Given the description of an element on the screen output the (x, y) to click on. 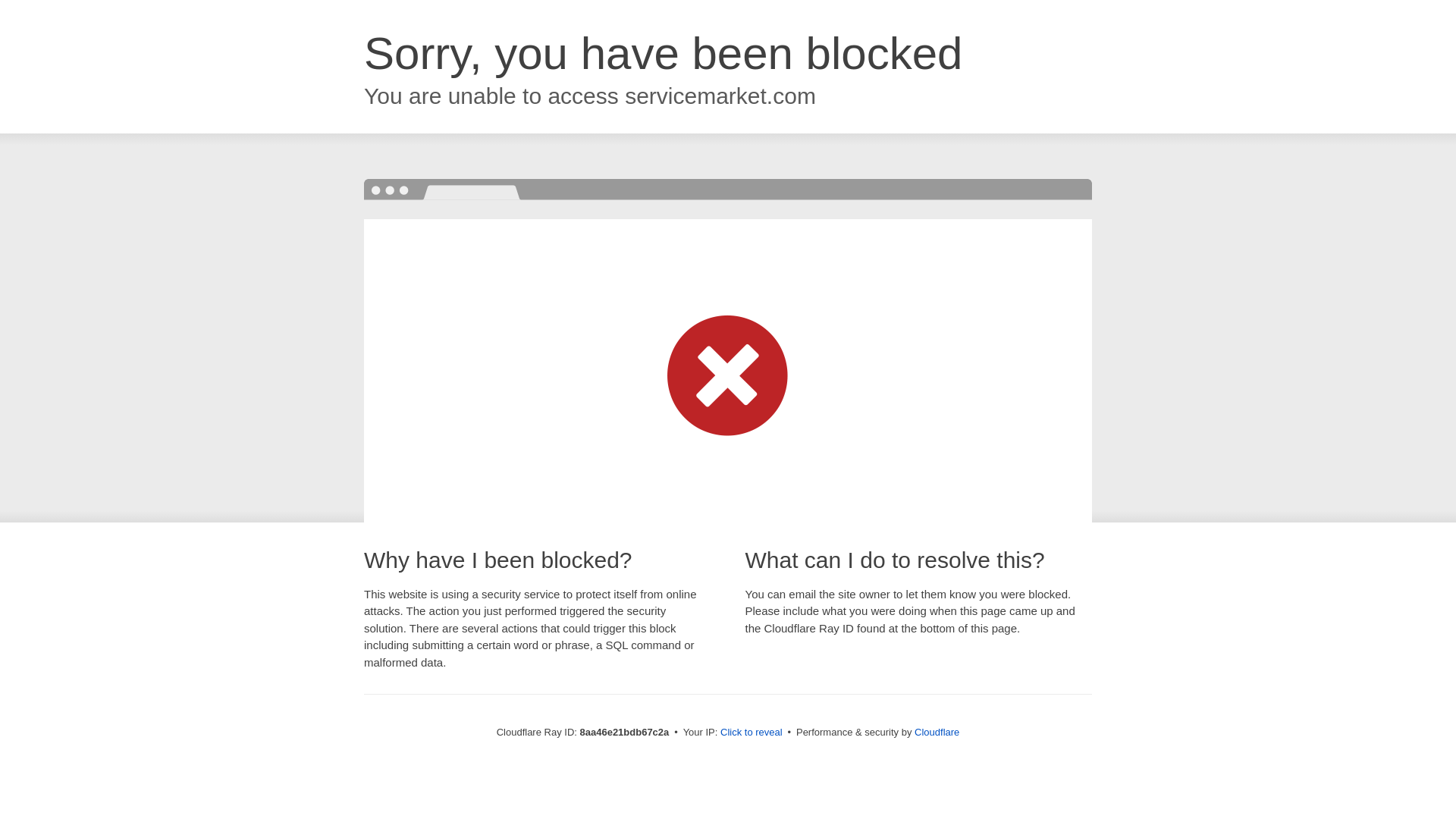
Click to reveal (751, 732)
Cloudflare (936, 731)
